Given the description of an element on the screen output the (x, y) to click on. 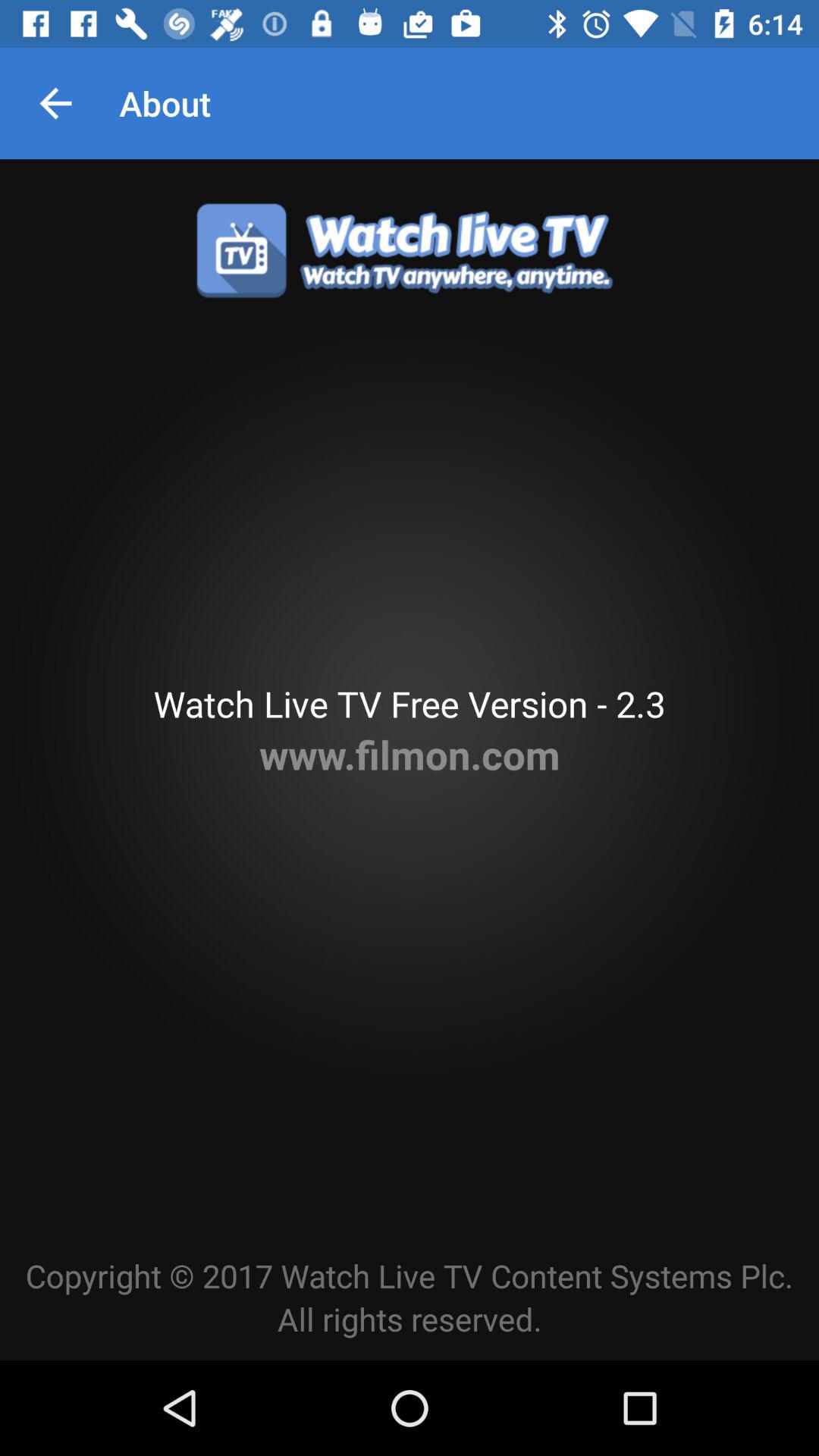
press the www.filmon.com item (409, 754)
